Given the description of an element on the screen output the (x, y) to click on. 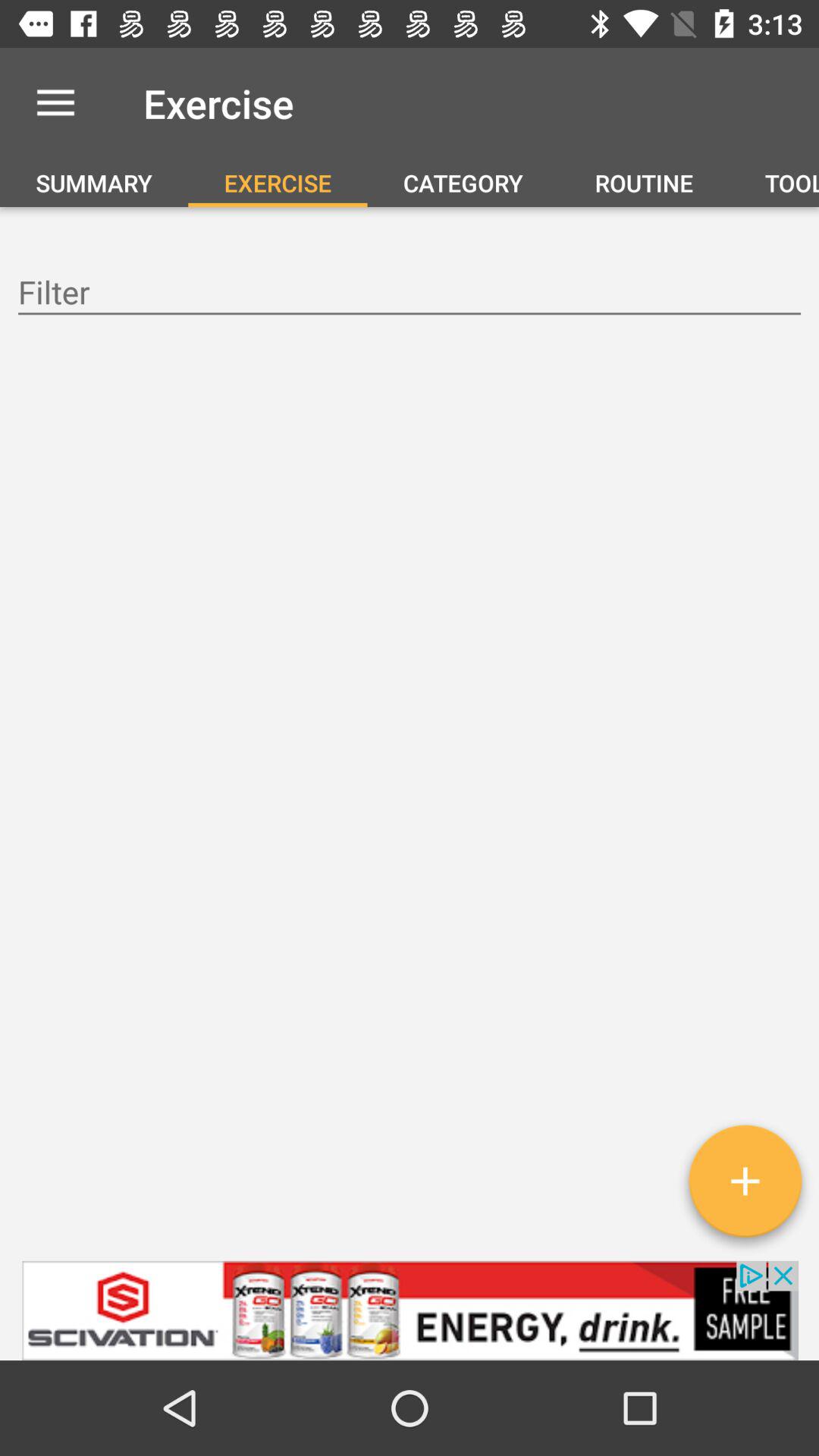
add item (745, 1186)
